Given the description of an element on the screen output the (x, y) to click on. 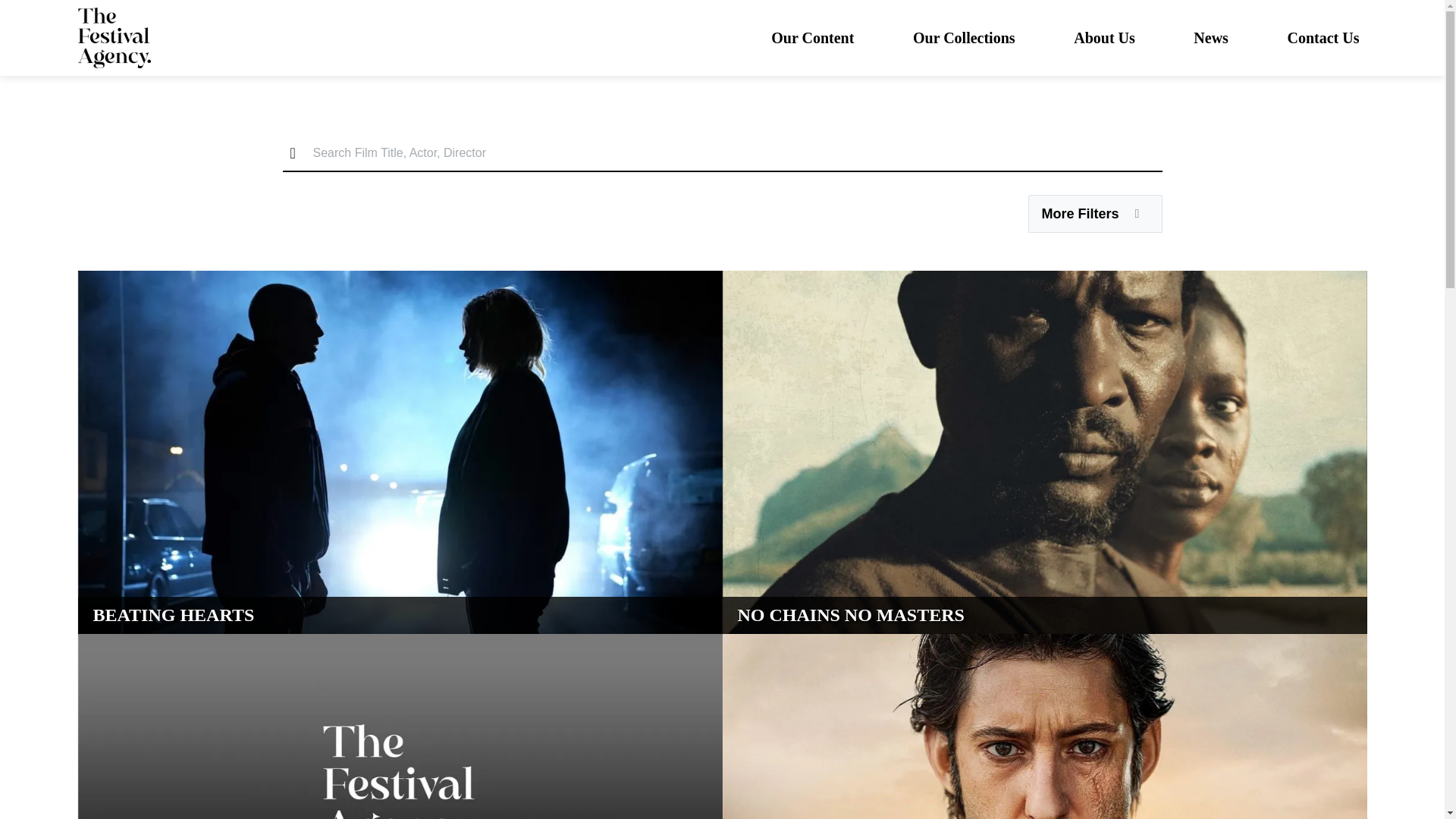
News (1210, 38)
Contact Us (1323, 38)
Watch Trailer (1288, 694)
SEE MORE (163, 595)
The Count of Monte-Cristo (1043, 667)
Our Collections (963, 38)
Somewhere In Love (399, 667)
Our Content (812, 38)
About Us (1104, 38)
No chains no masters (1043, 304)
SEE MORE (808, 595)
Beating Hearts (399, 304)
